Given the description of an element on the screen output the (x, y) to click on. 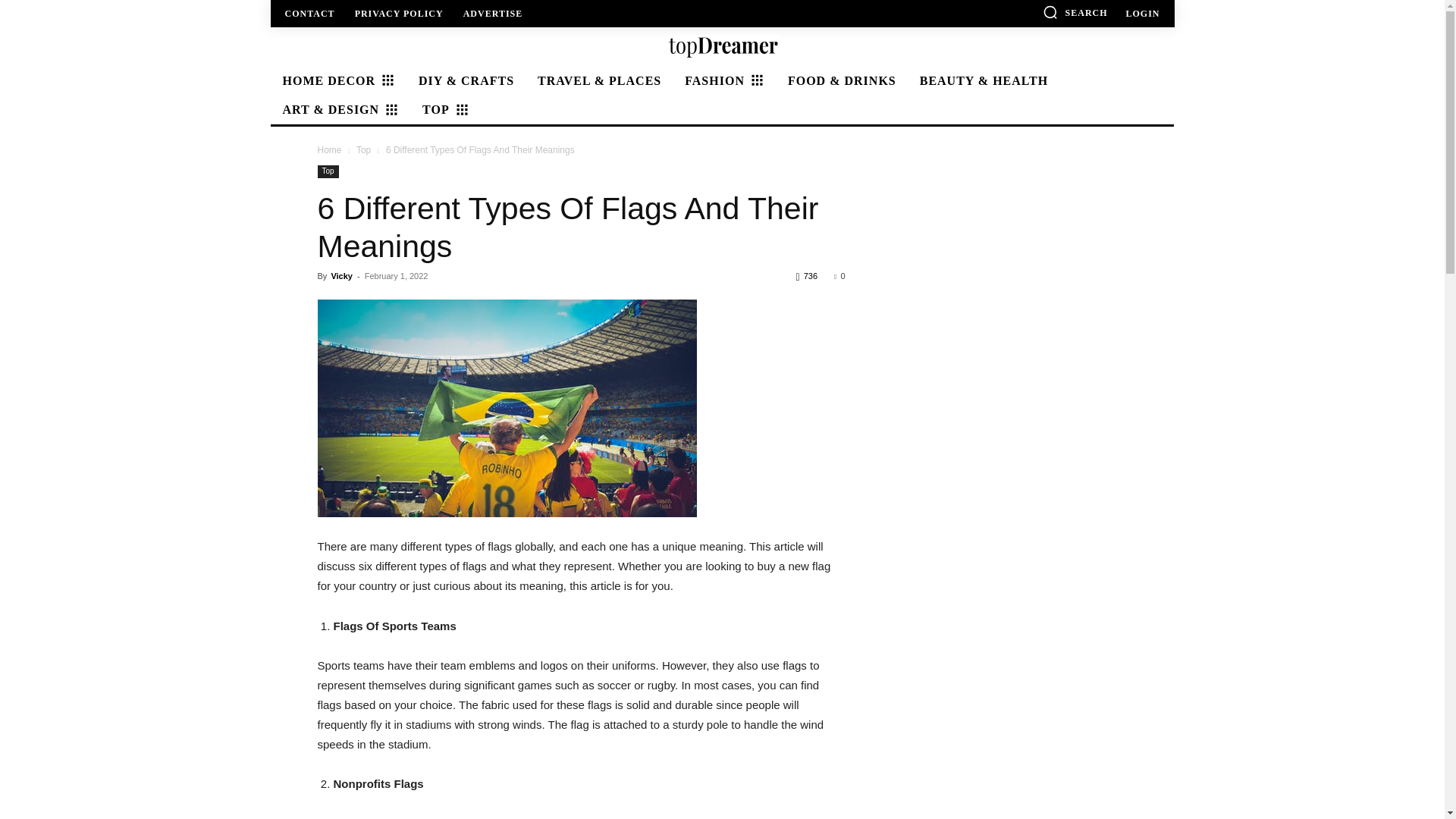
View all posts in Top (363, 149)
